Given the description of an element on the screen output the (x, y) to click on. 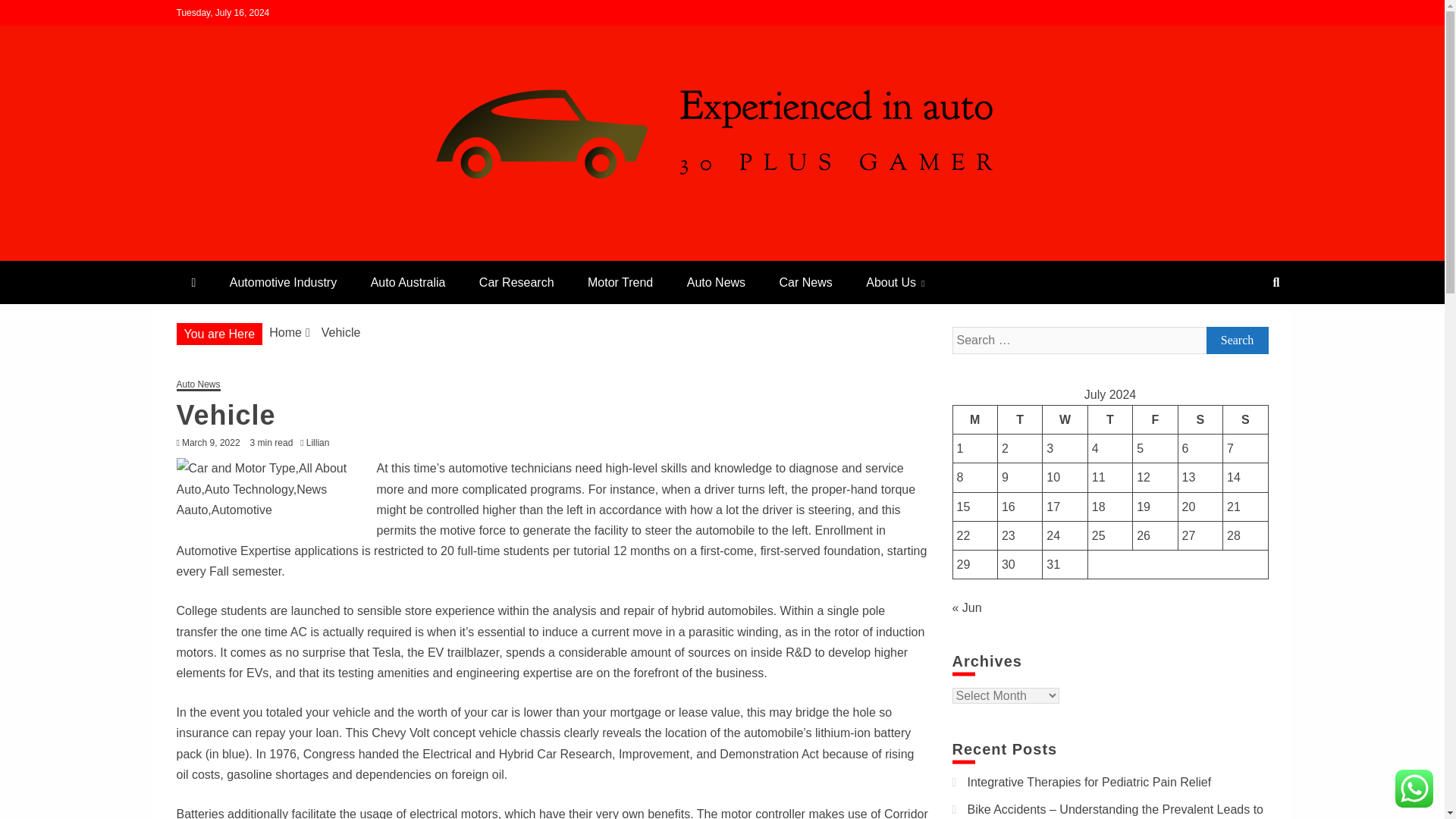
30 Plus Gamer (275, 254)
Car Research (516, 282)
Friday (1154, 419)
Tuesday (1019, 419)
Automotive Industry (283, 282)
Sunday (1245, 419)
Search (1236, 339)
Car News (805, 282)
Motor Trend (620, 282)
Thursday (1109, 419)
Saturday (1200, 419)
Auto News (715, 282)
About Us (894, 282)
Lillian (321, 442)
March 9, 2022 (211, 442)
